Given the description of an element on the screen output the (x, y) to click on. 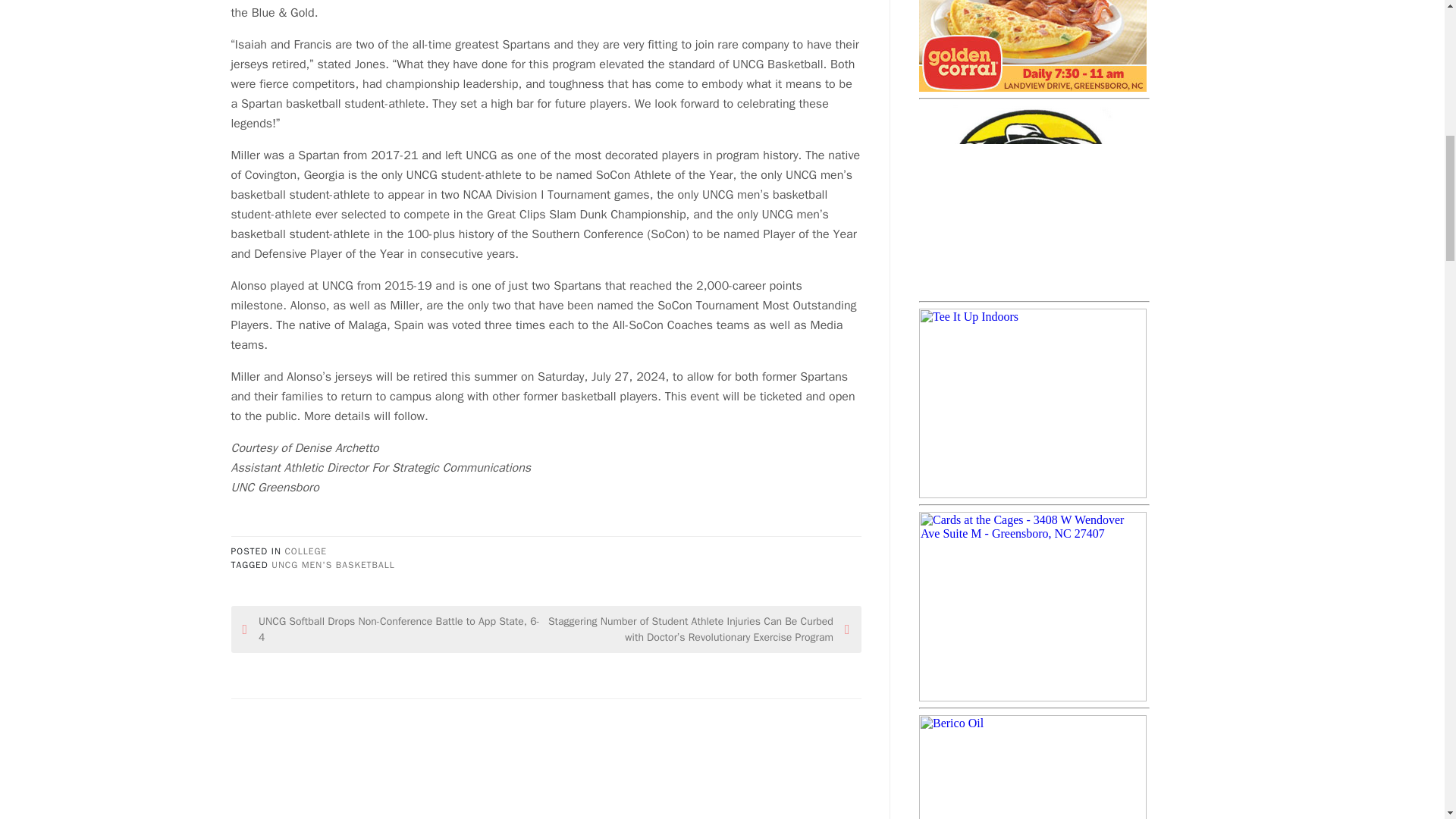
UNCG Softball Drops Non-Conference Battle to App State, 6-4 (395, 629)
COLLEGE (304, 551)
UNCG MEN'S BASKETBALL (332, 564)
